Given the description of an element on the screen output the (x, y) to click on. 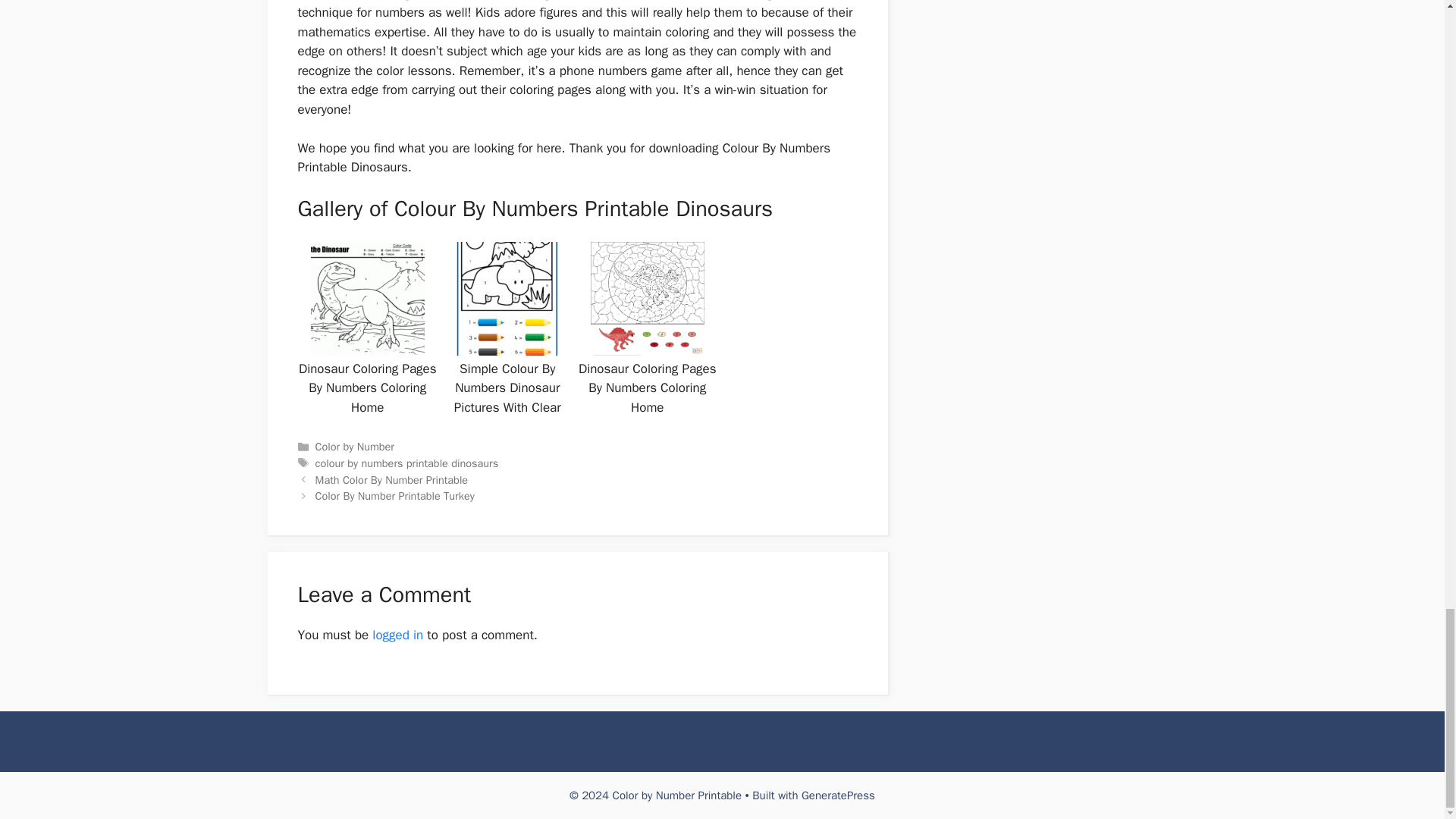
logged in (397, 634)
Next (394, 495)
colour by numbers printable dinosaurs (407, 463)
Previous (391, 479)
Color By Number Printable Turkey (394, 495)
GeneratePress (838, 795)
Math Color By Number Printable (391, 479)
Color by Number (354, 446)
